Given the description of an element on the screen output the (x, y) to click on. 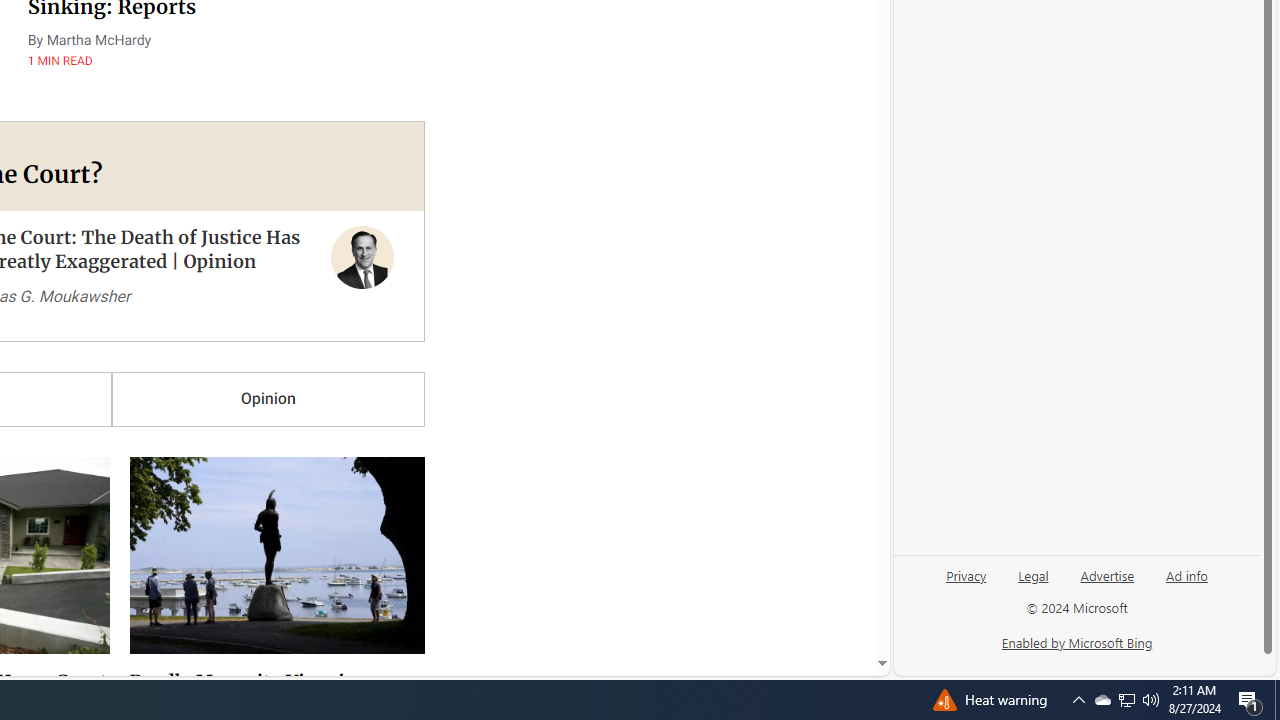
Action Center, 1 new notification (1250, 699)
Deadly Mosquito Virus in Massachusetts: What We Know (269, 497)
